Given the description of an element on the screen output the (x, y) to click on. 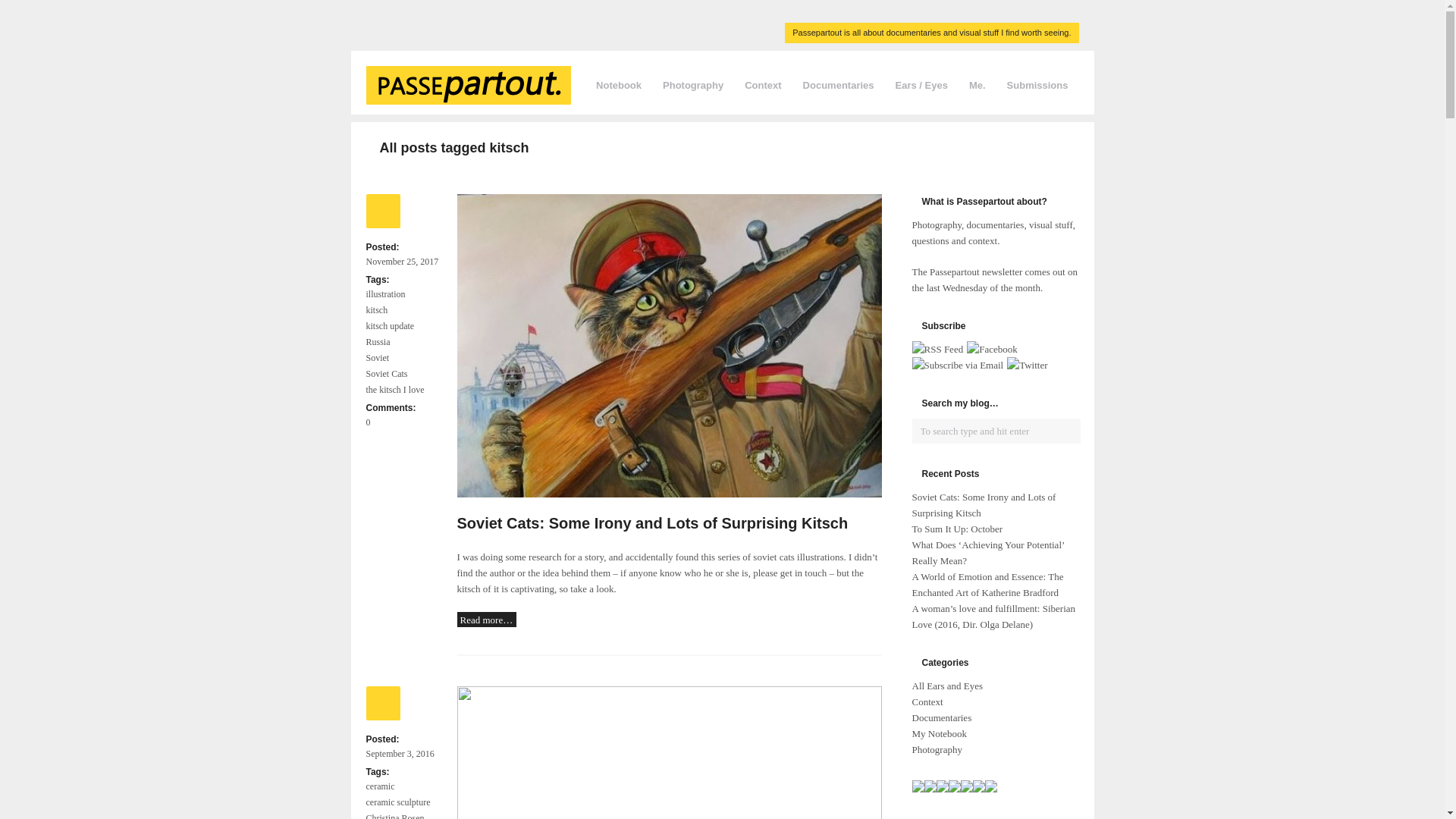
Russia (377, 341)
Soviet Cats: Some Irony and Lots of Surprising Kitsch (652, 523)
ceramic (379, 786)
Christina Rosen (394, 815)
kitsch update (389, 325)
Photography (692, 85)
Soviet Cats (386, 373)
Submissions (1037, 85)
Me. (977, 85)
